Given the description of an element on the screen output the (x, y) to click on. 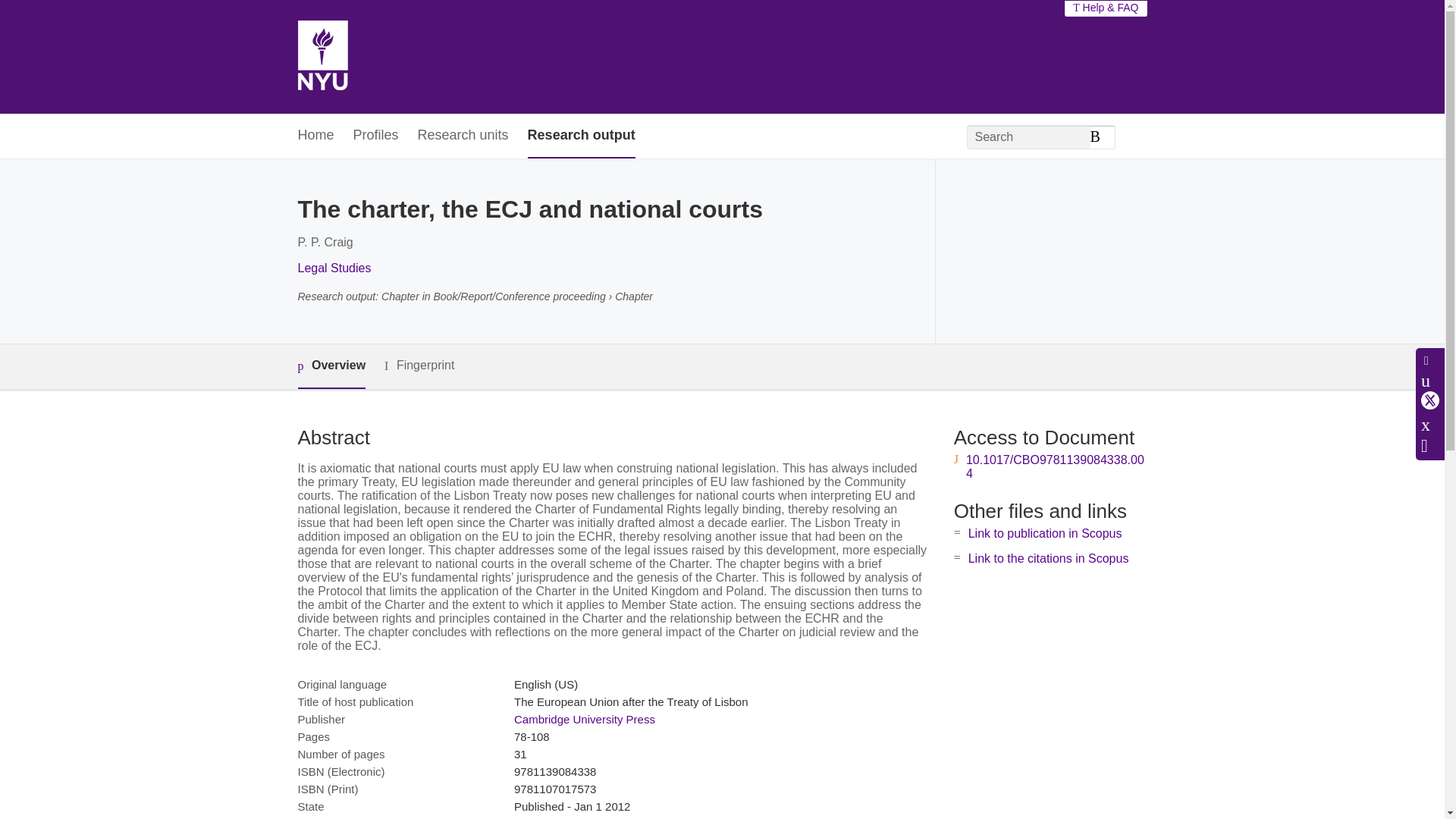
Cambridge University Press (584, 718)
Research output (580, 135)
Profiles (375, 135)
Legal Studies (334, 267)
Link to publication in Scopus (1045, 533)
Link to the citations in Scopus (1048, 558)
Overview (331, 366)
Research units (462, 135)
Fingerprint (419, 365)
